Given the description of an element on the screen output the (x, y) to click on. 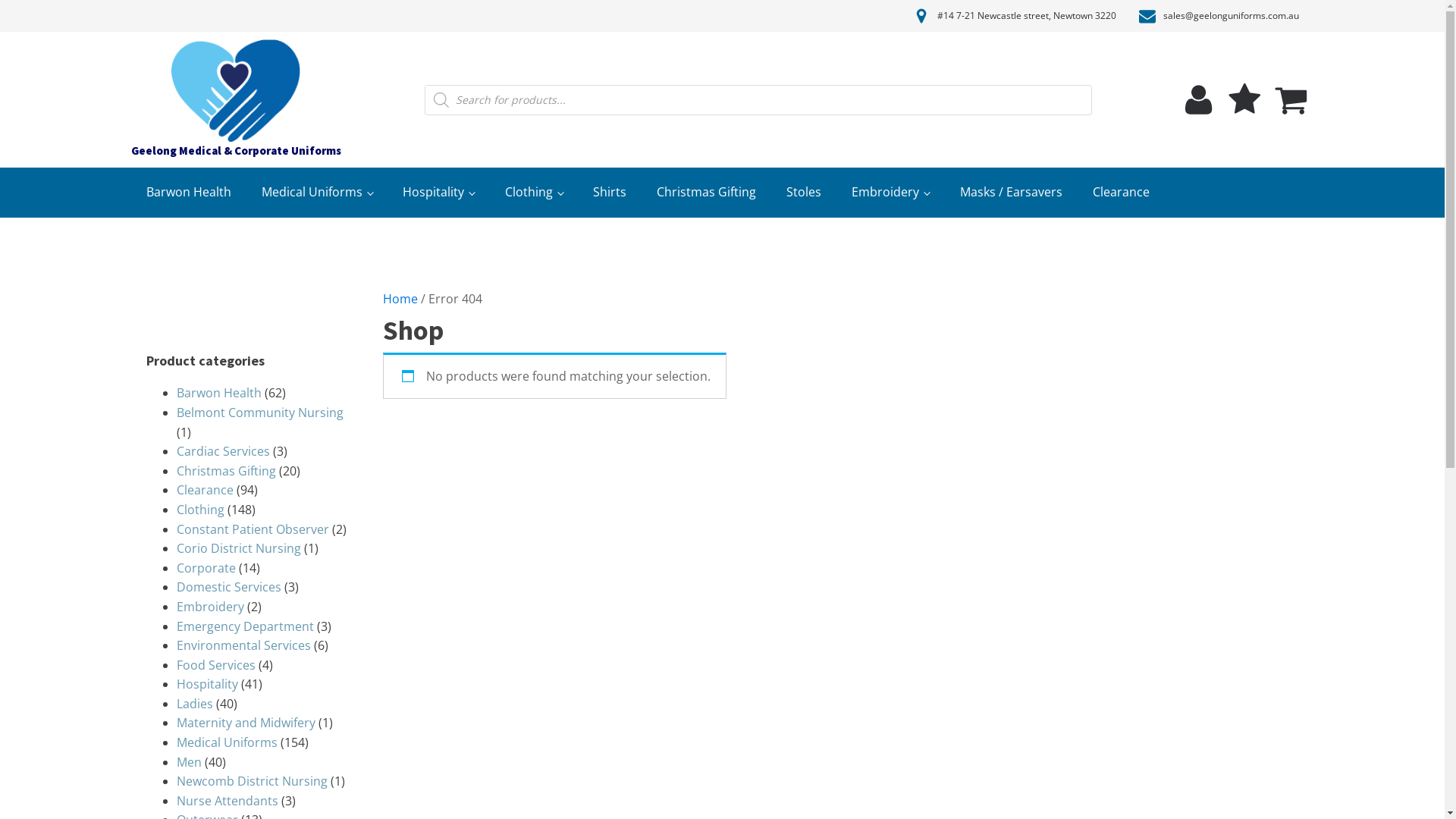
Masks / Earsavers Element type: text (1010, 192)
Belmont Community Nursing Element type: text (258, 412)
Emergency Department Element type: text (244, 626)
Shirts Element type: text (609, 192)
Corio District Nursing Element type: text (237, 547)
Clothing Element type: text (533, 192)
Newcomb District Nursing Element type: text (250, 780)
Embroidery Element type: text (890, 192)
Domestic Services Element type: text (227, 586)
Clearance Element type: text (203, 489)
Home Element type: text (399, 298)
Clothing Element type: text (199, 509)
Corporate Element type: text (205, 567)
Nurse Attendants Element type: text (226, 800)
Constant Patient Observer Element type: text (251, 528)
Medical Uniforms Element type: text (316, 192)
Medical Uniforms Element type: text (225, 742)
Geelong Medical & Corporate Uniforms Element type: text (235, 99)
Christmas Gifting Element type: text (225, 470)
Ladies Element type: text (193, 703)
Food Services Element type: text (214, 664)
Hospitality Element type: text (438, 192)
Barwon Health Element type: text (187, 192)
#14 7-21 Newcastle street, Newtown 3220 Element type: text (1026, 15)
Barwon Health Element type: text (217, 392)
Stoles Element type: text (803, 192)
Cardiac Services Element type: text (222, 450)
Christmas Gifting Element type: text (706, 192)
Clearance Element type: text (1120, 192)
Men Element type: text (187, 761)
Embroidery Element type: text (209, 606)
Environmental Services Element type: text (242, 645)
Maternity and Midwifery Element type: text (244, 722)
Hospitality Element type: text (206, 683)
